Given the description of an element on the screen output the (x, y) to click on. 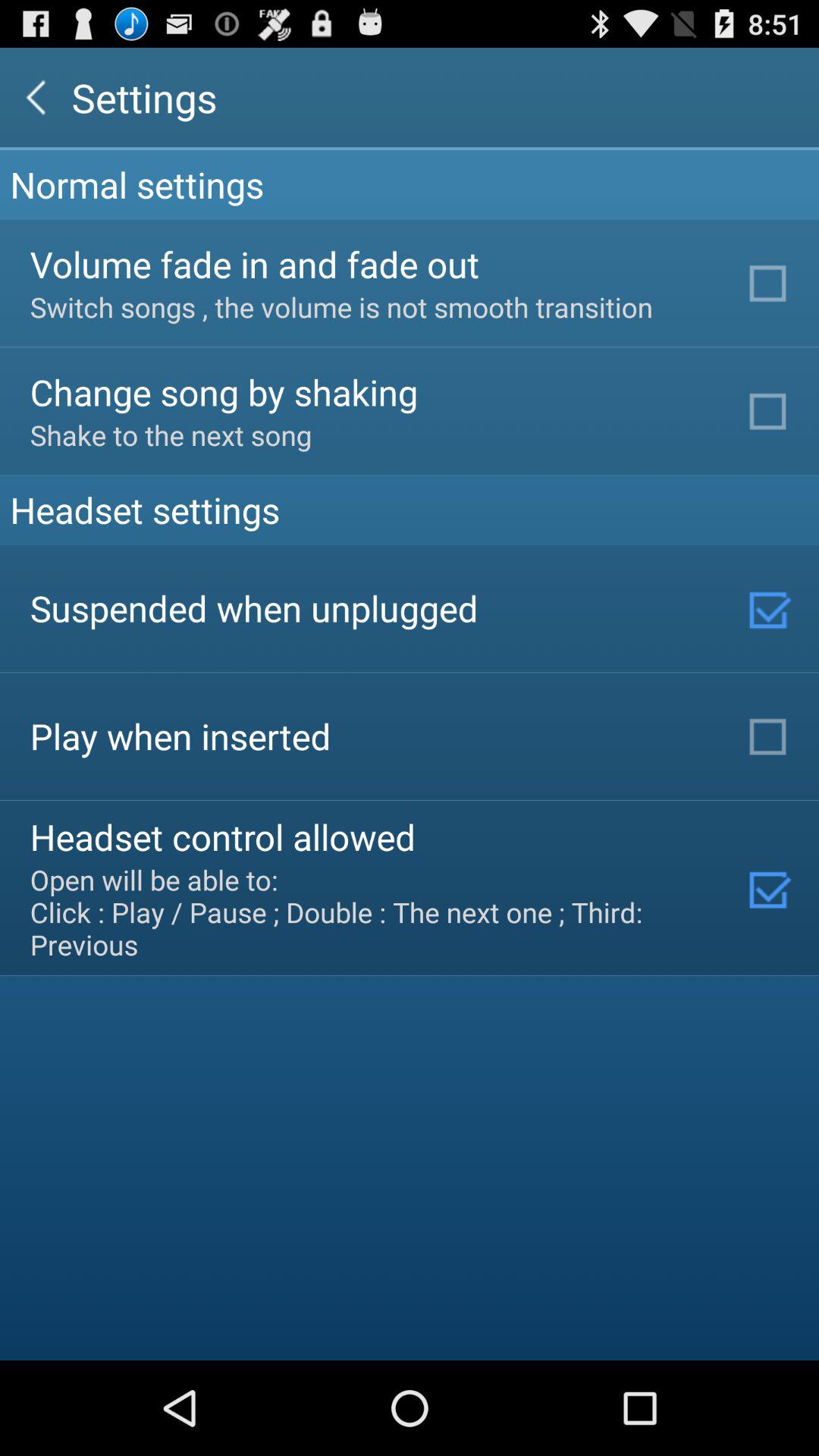
select the first check box (769, 283)
